Given the description of an element on the screen output the (x, y) to click on. 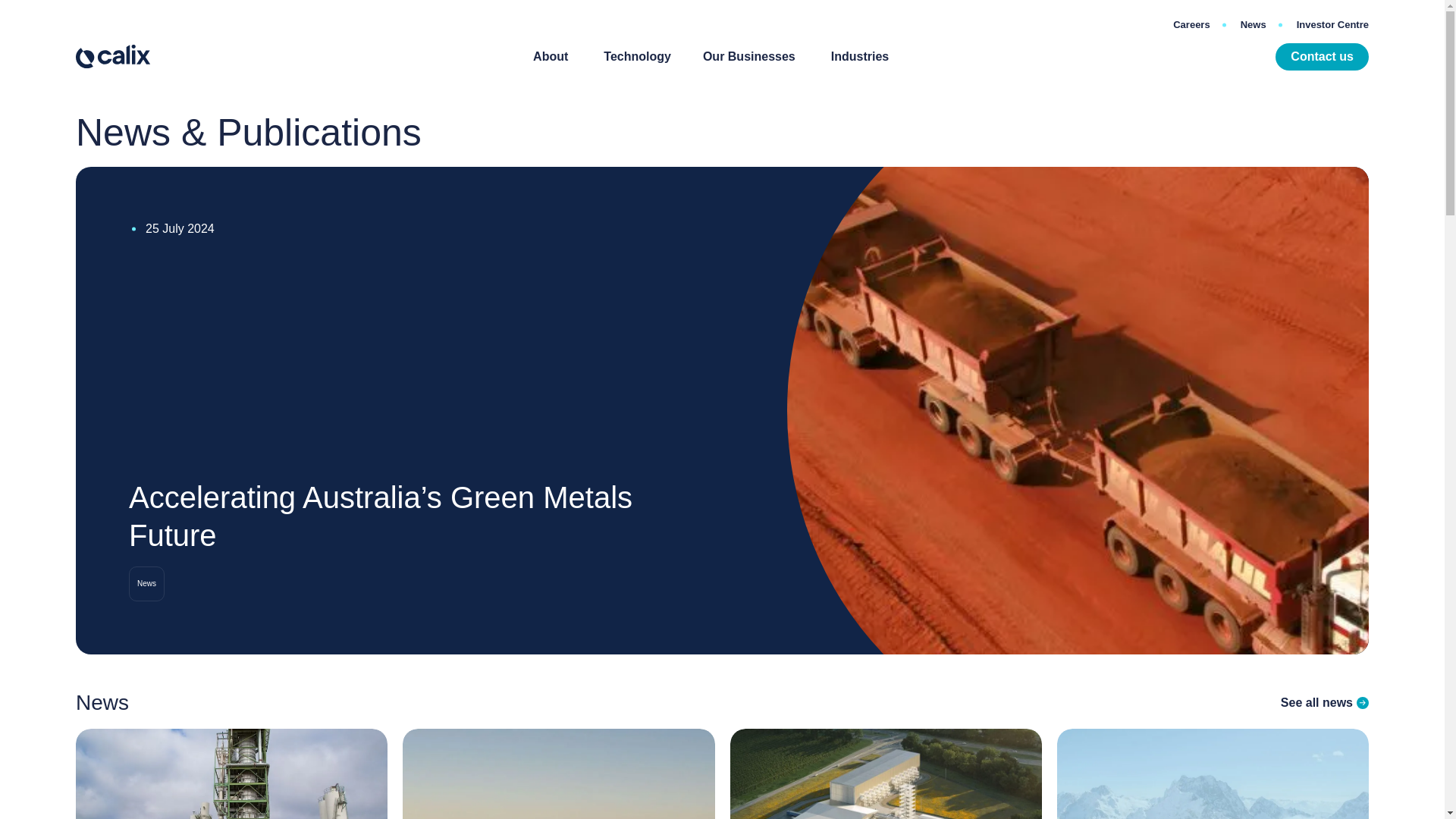
News (1253, 25)
Careers (1190, 25)
About (549, 56)
Industries (859, 56)
Investor Centre (1324, 25)
Technology (637, 56)
Our Businesses (748, 56)
